Given the description of an element on the screen output the (x, y) to click on. 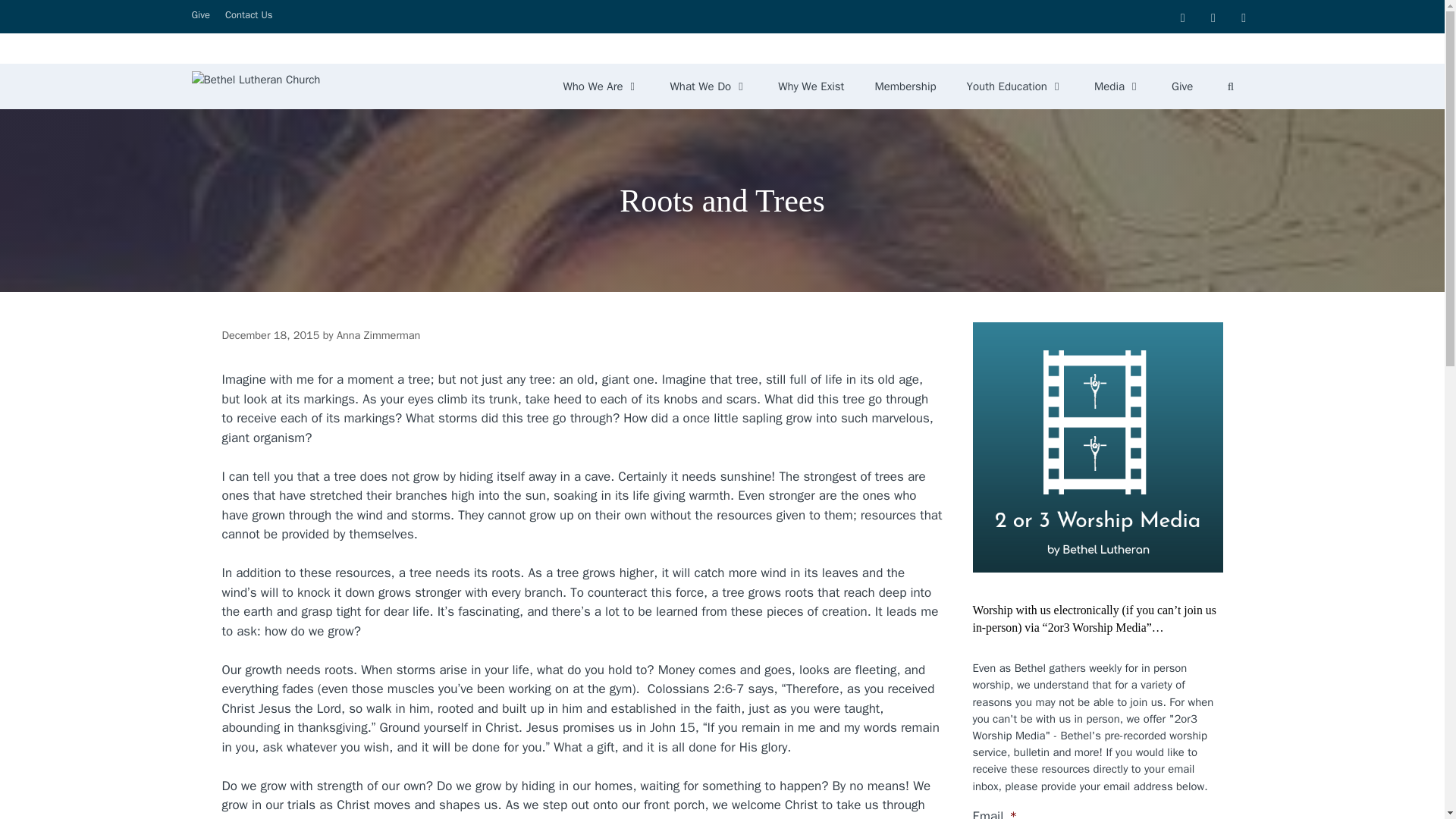
Media (1117, 85)
View all posts by Anna Zimmerman (378, 335)
Give (1182, 85)
Give (199, 14)
Who We Are (600, 85)
Membership (904, 85)
Bethel Lutheran Church (255, 85)
Contact Us (249, 14)
What We Do (708, 85)
Anna Zimmerman (378, 335)
Why We Exist (810, 85)
Youth Education (1015, 85)
